Given the description of an element on the screen output the (x, y) to click on. 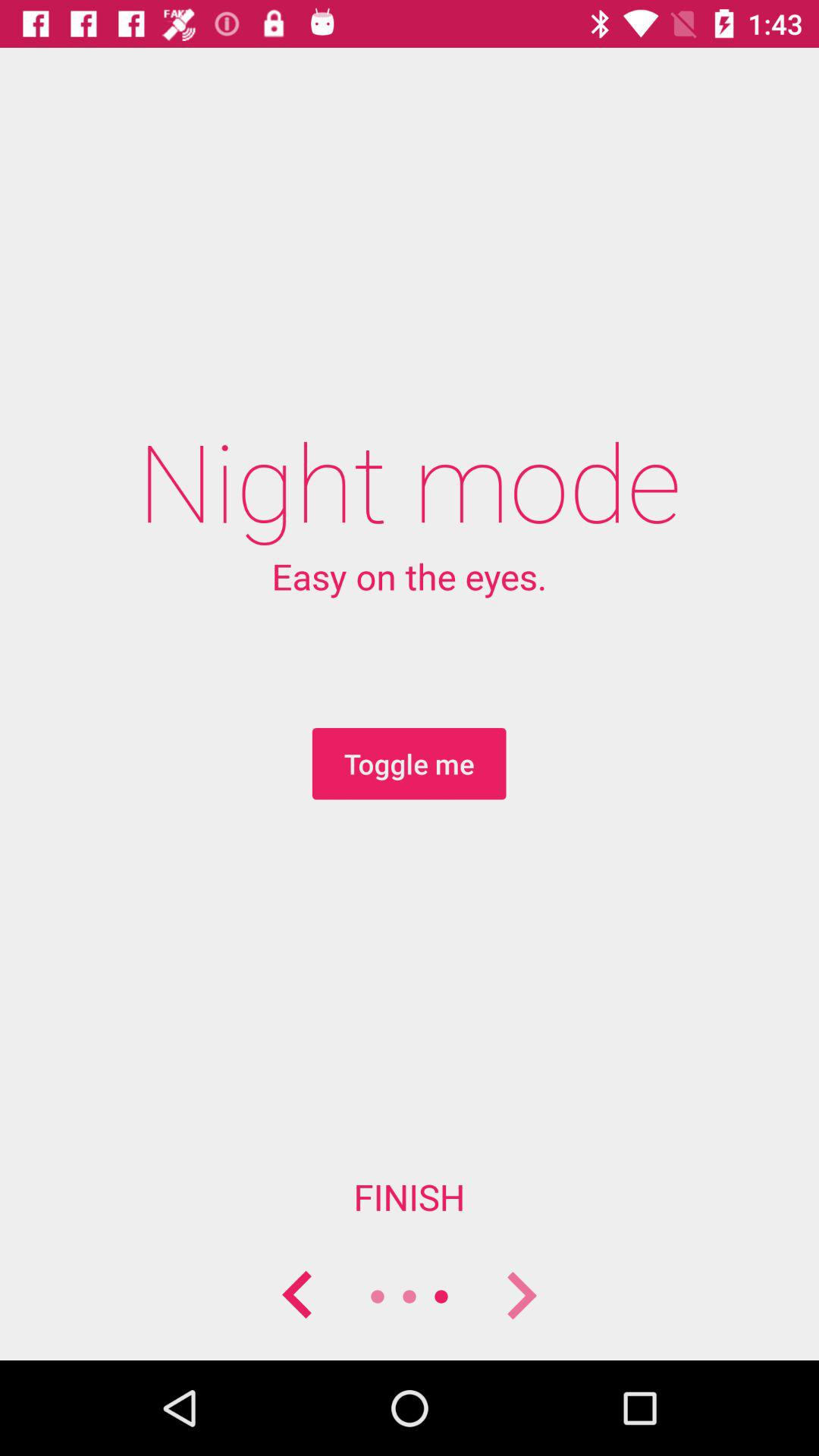
press item below the toggle me (409, 1197)
